Given the description of an element on the screen output the (x, y) to click on. 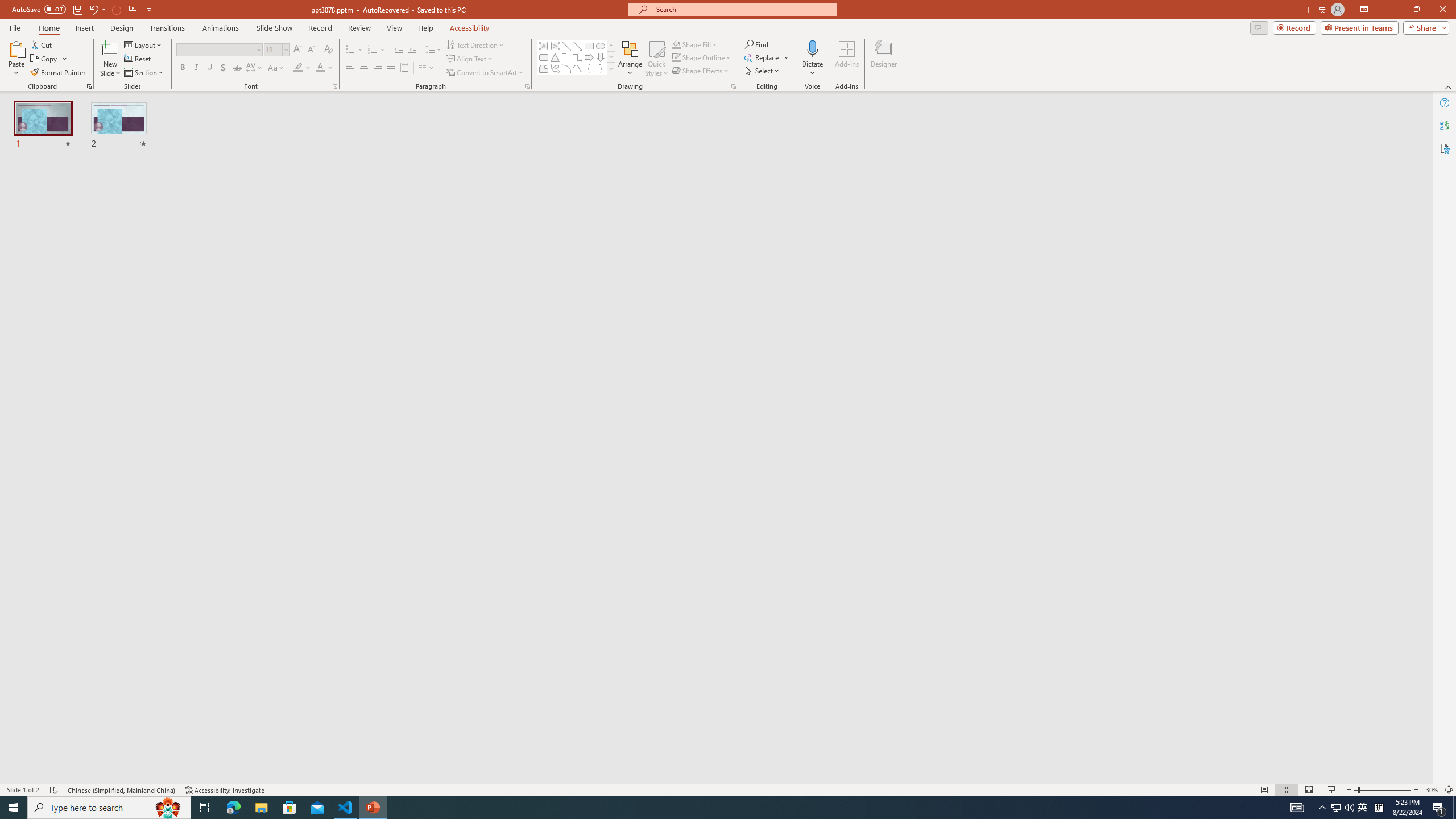
Zoom 30% (1431, 790)
